Given the description of an element on the screen output the (x, y) to click on. 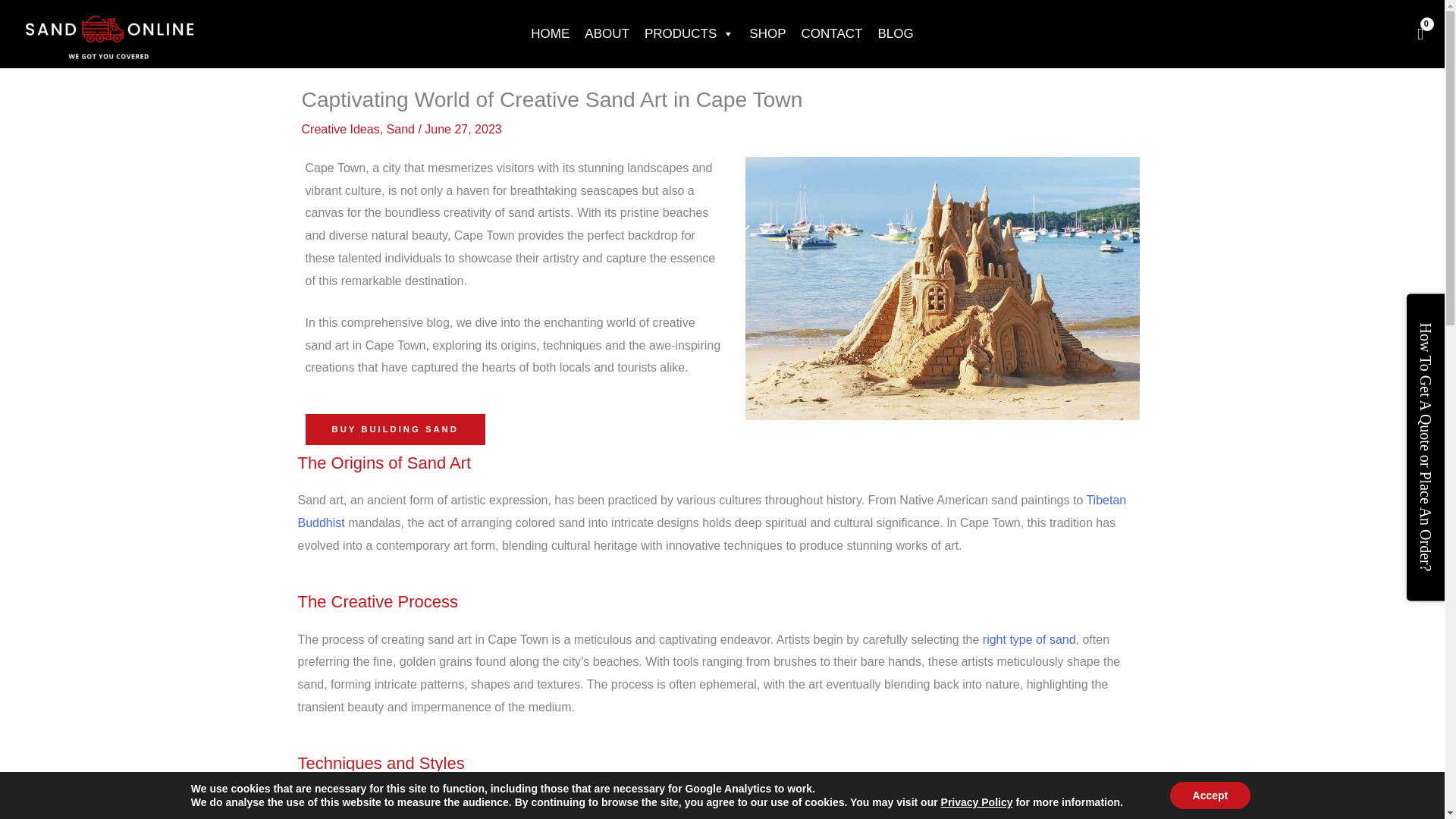
ABOUT (606, 33)
BUY BUILDING SAND (394, 429)
Creative Ideas (340, 128)
CONTACT (831, 33)
SHOP (767, 33)
Tibetan Buddhist (711, 511)
BLOG (894, 33)
right type of sand (1028, 639)
Sand (400, 128)
PRODUCTS (689, 33)
HOME (549, 33)
